Given the description of an element on the screen output the (x, y) to click on. 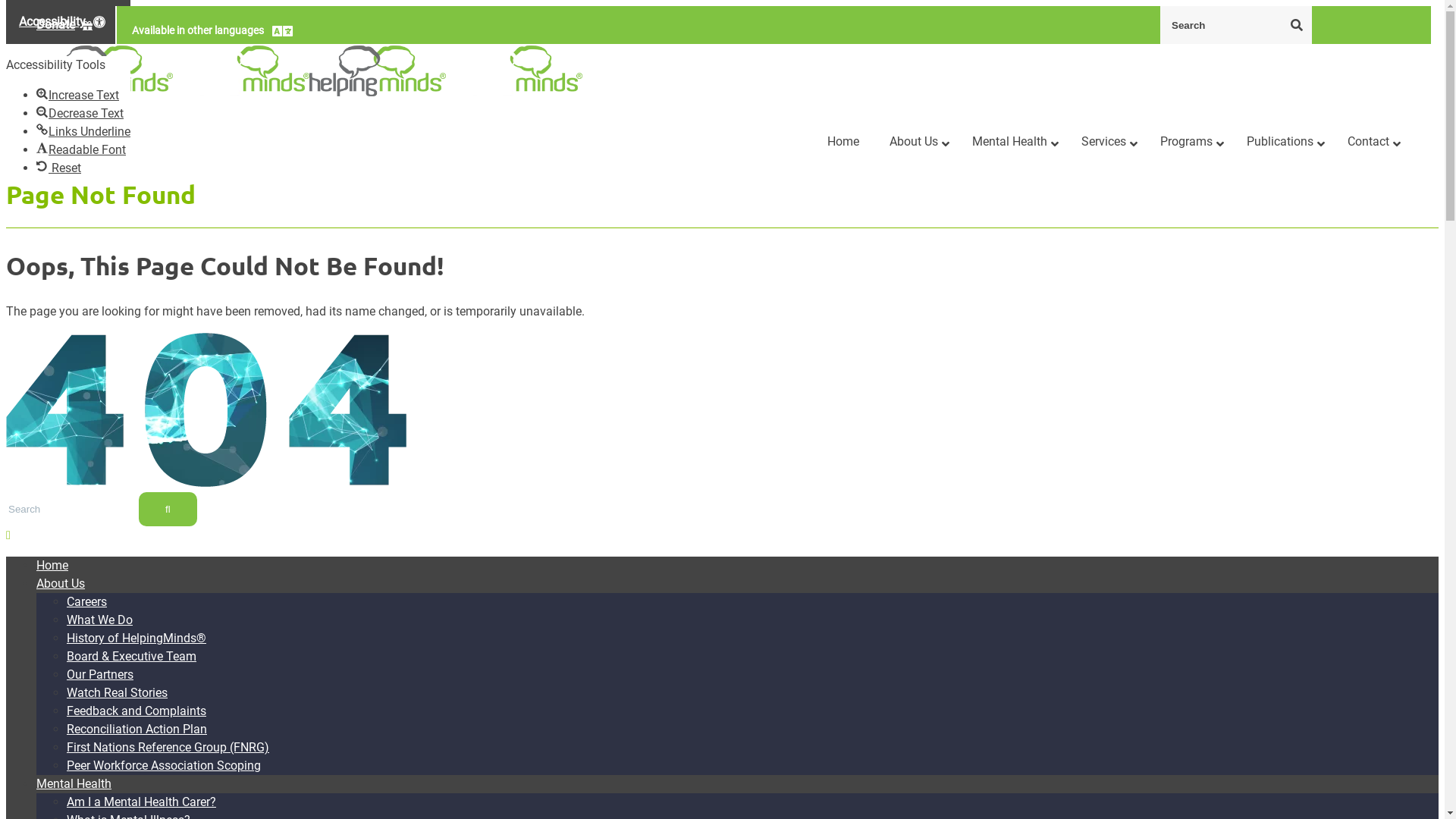
Mental Health Element type: text (1011, 141)
Readable FontReadable Font Element type: text (80, 149)
Watch Real Stories Element type: text (116, 692)
HelpingMinds Element type: hover (240, 70)
Decrease TextDecrease Text Element type: text (79, 113)
Contact Element type: text (1370, 141)
Home Element type: text (843, 141)
Programs Element type: text (1188, 141)
Open toolbar Element type: text (68, 21)
Search Element type: hover (1296, 24)
About Us Element type: text (60, 583)
Careers Element type: text (86, 601)
HelpingMinds Element type: hover (104, 70)
Reset Reset Element type: text (58, 167)
First Nations Reference Group (FNRG) Element type: text (167, 747)
Services Element type: text (1105, 141)
HelpingMinds Element type: hover (513, 70)
Links UnderlineLinks Underline Element type: text (83, 131)
Home Element type: text (52, 565)
HelpingMinds Element type: hover (377, 70)
What We Do Element type: text (99, 619)
Our Partners Element type: text (99, 674)
Am I a Mental Health Carer? Element type: text (141, 801)
Reconciliation Action Plan Element type: text (136, 728)
Board & Executive Team Element type: text (131, 656)
Feedback and Complaints Element type: text (136, 710)
Increase TextIncrease Text Element type: text (77, 94)
Peer Workforce Association Scoping Element type: text (163, 765)
About Us Element type: text (915, 141)
Publications Element type: text (1281, 141)
Donate Element type: text (64, 24)
Mental Health Element type: text (73, 783)
